Given the description of an element on the screen output the (x, y) to click on. 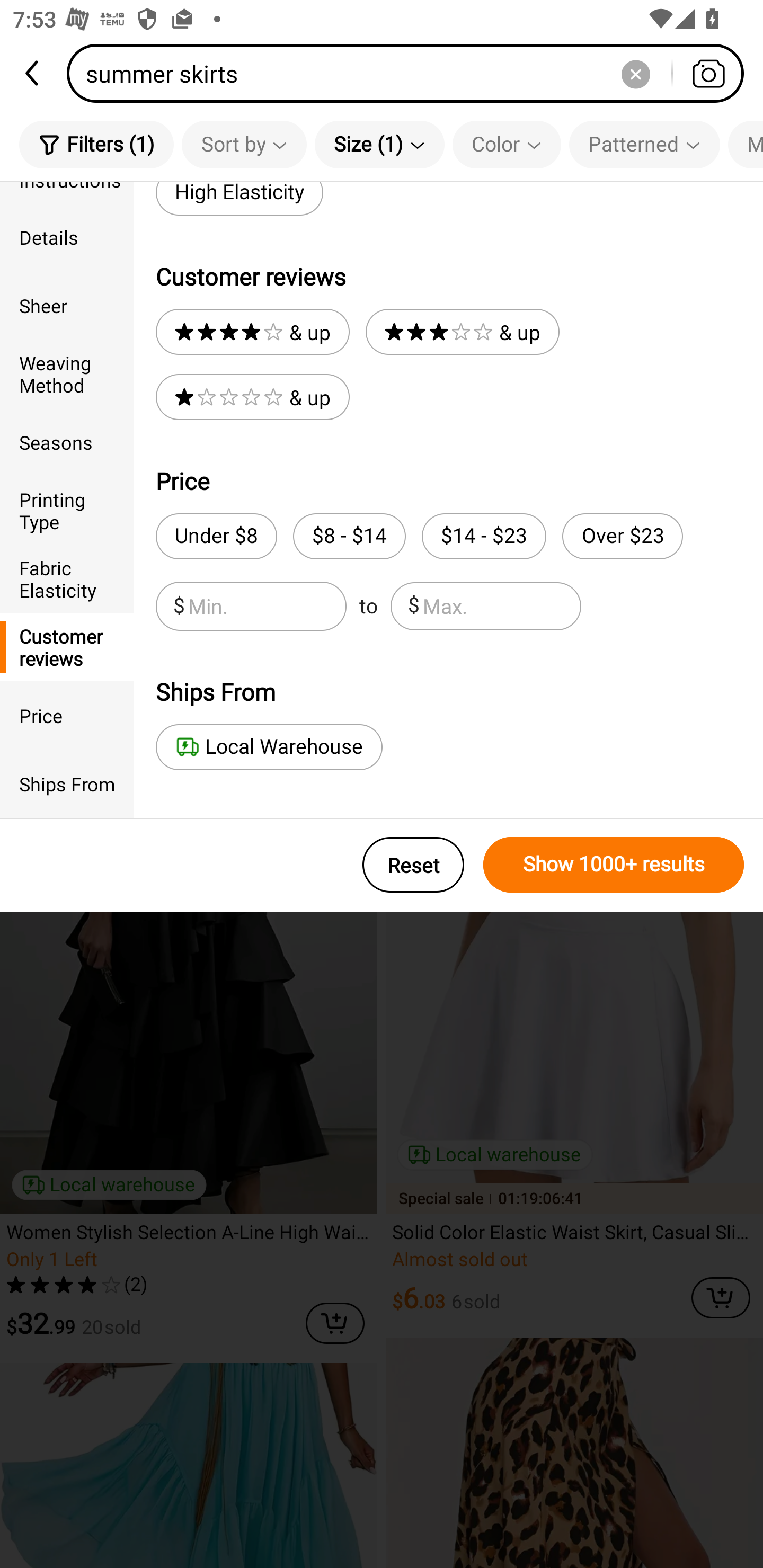
back (33, 72)
summer skirts (411, 73)
Delete search history (635, 73)
Search by photo (708, 73)
Filters (1) (96, 143)
Sort by (243, 143)
Size (1) (379, 143)
Color (506, 143)
Patterned (644, 143)
High Elasticity (239, 198)
Details (66, 236)
Sheer (66, 305)
& up (252, 331)
& up (462, 331)
Weaving Method (66, 373)
& up (252, 397)
Seasons (66, 441)
Printing Type (66, 510)
Under $8 (215, 535)
$8 - $14 (348, 535)
$14 - $23 (483, 535)
Over $23 (622, 535)
Fabric Elasticity (66, 578)
$ Min. to $ Max. (368, 605)
Customer reviews (66, 646)
Price (66, 714)
Local Warehouse (268, 746)
Ships From (66, 783)
Reset (412, 864)
Show 1000+ results (612, 864)
